Given the description of an element on the screen output the (x, y) to click on. 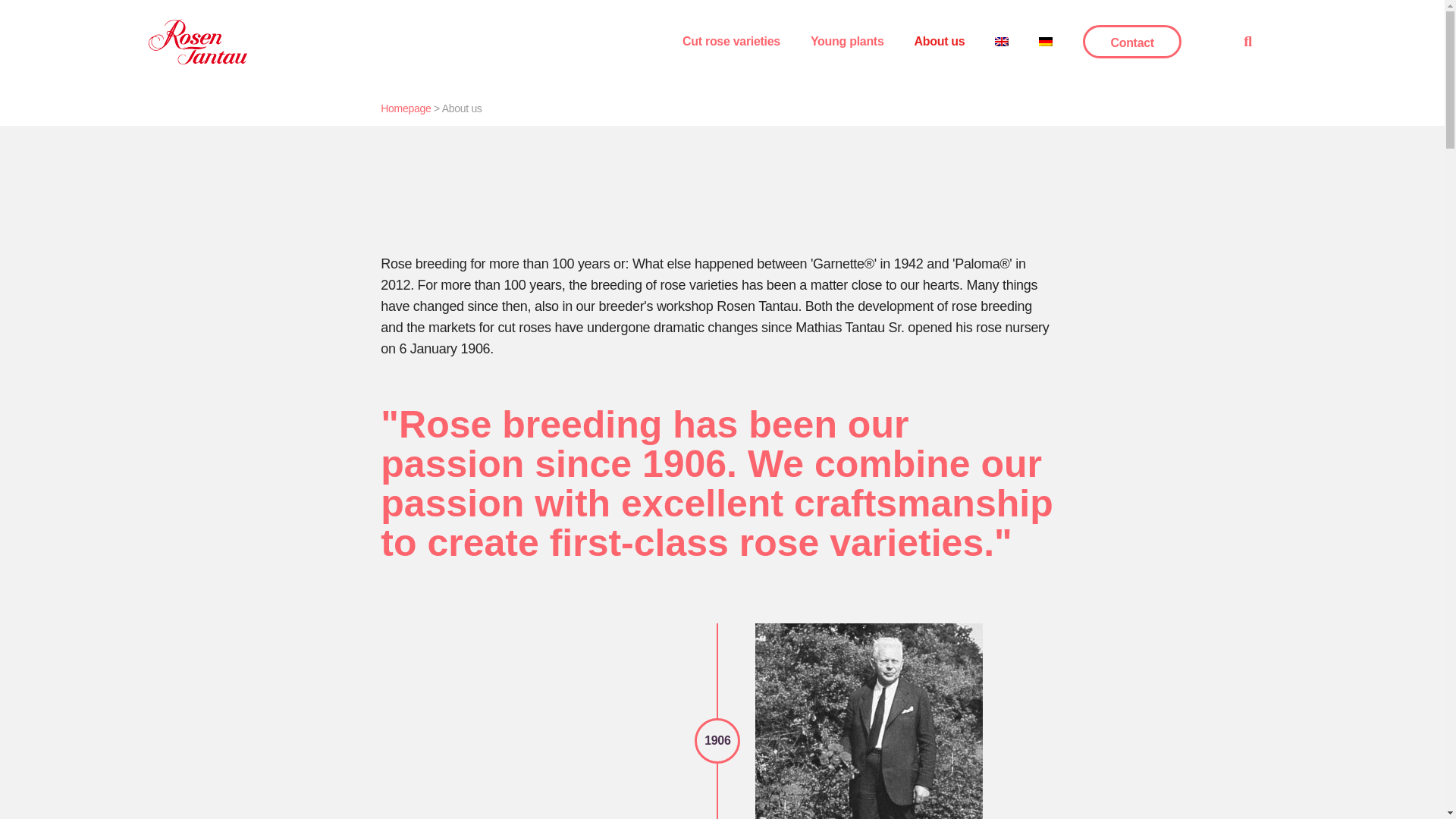
Young plants (846, 41)
Contact (1131, 41)
Cut rose varieties (730, 41)
About us (938, 41)
Homepage (405, 108)
